Given the description of an element on the screen output the (x, y) to click on. 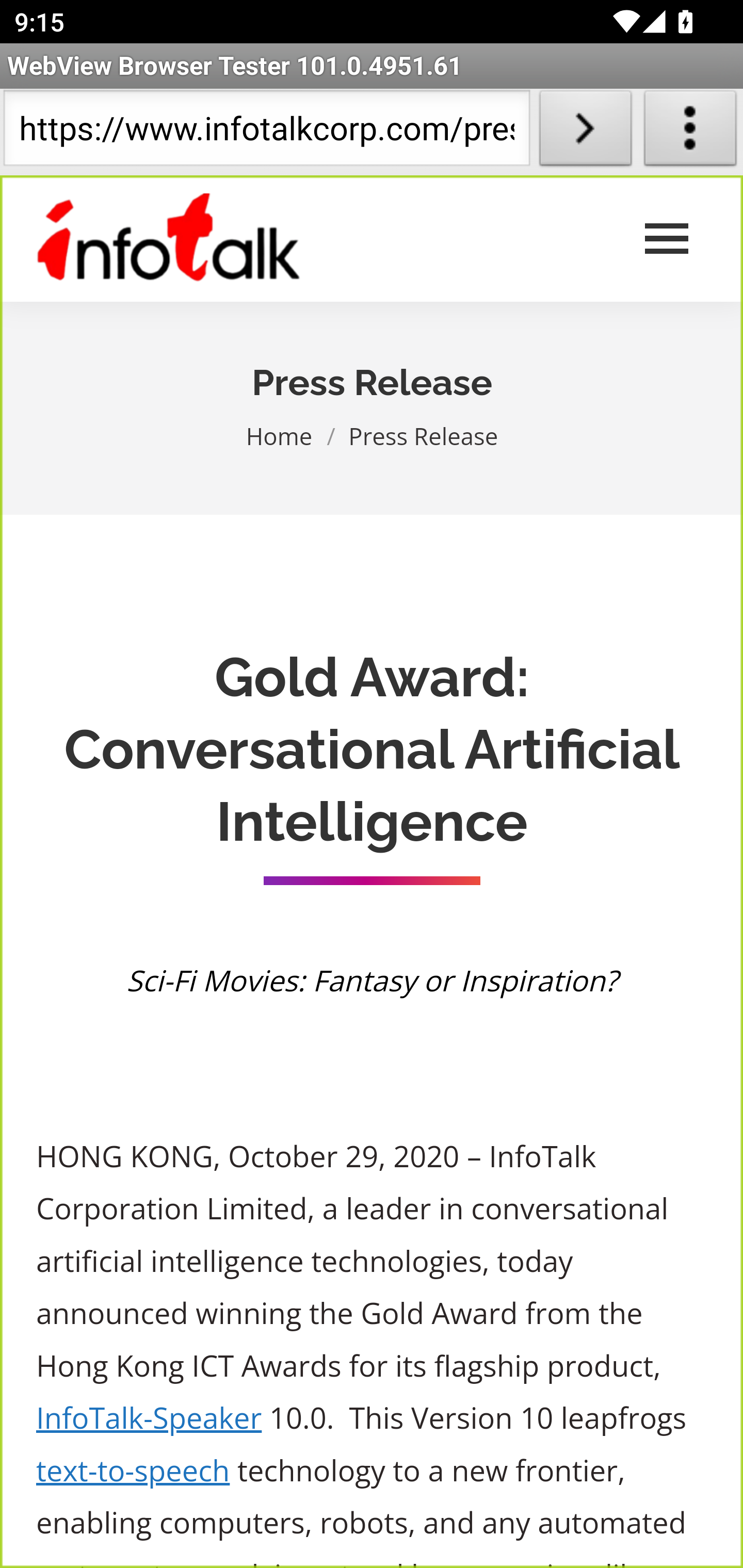
Load URL (585, 132)
About WebView (690, 132)
InfoTalk Corporation (169, 238)
Mobile menu icon (666, 238)
Home (279, 435)
InfoTalk-Speaker (149, 1418)
text-to-speech (133, 1470)
